Given the description of an element on the screen output the (x, y) to click on. 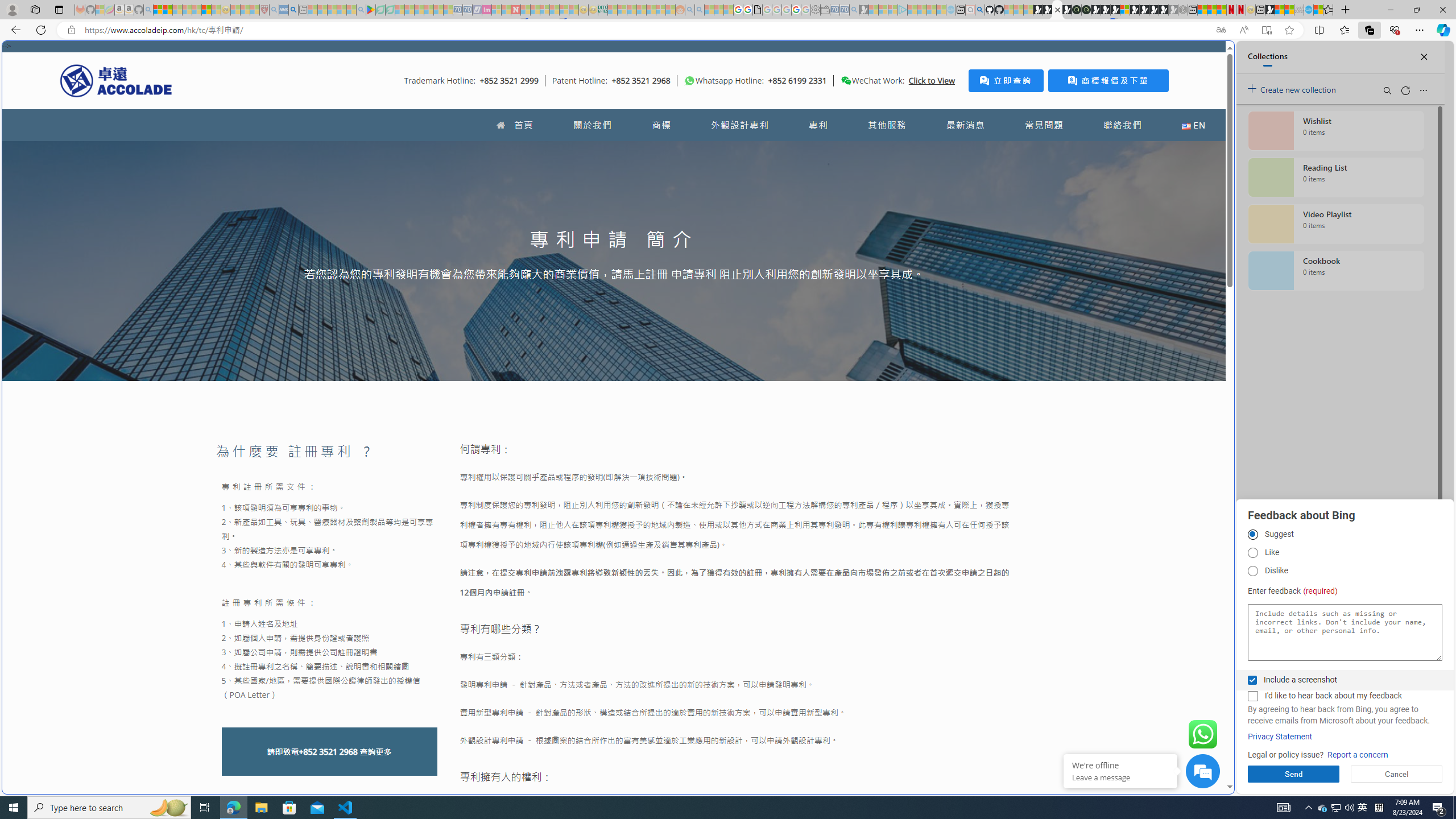
Tabs you've opened (885, 151)
Accolade IP HK Logo (116, 80)
